Given the description of an element on the screen output the (x, y) to click on. 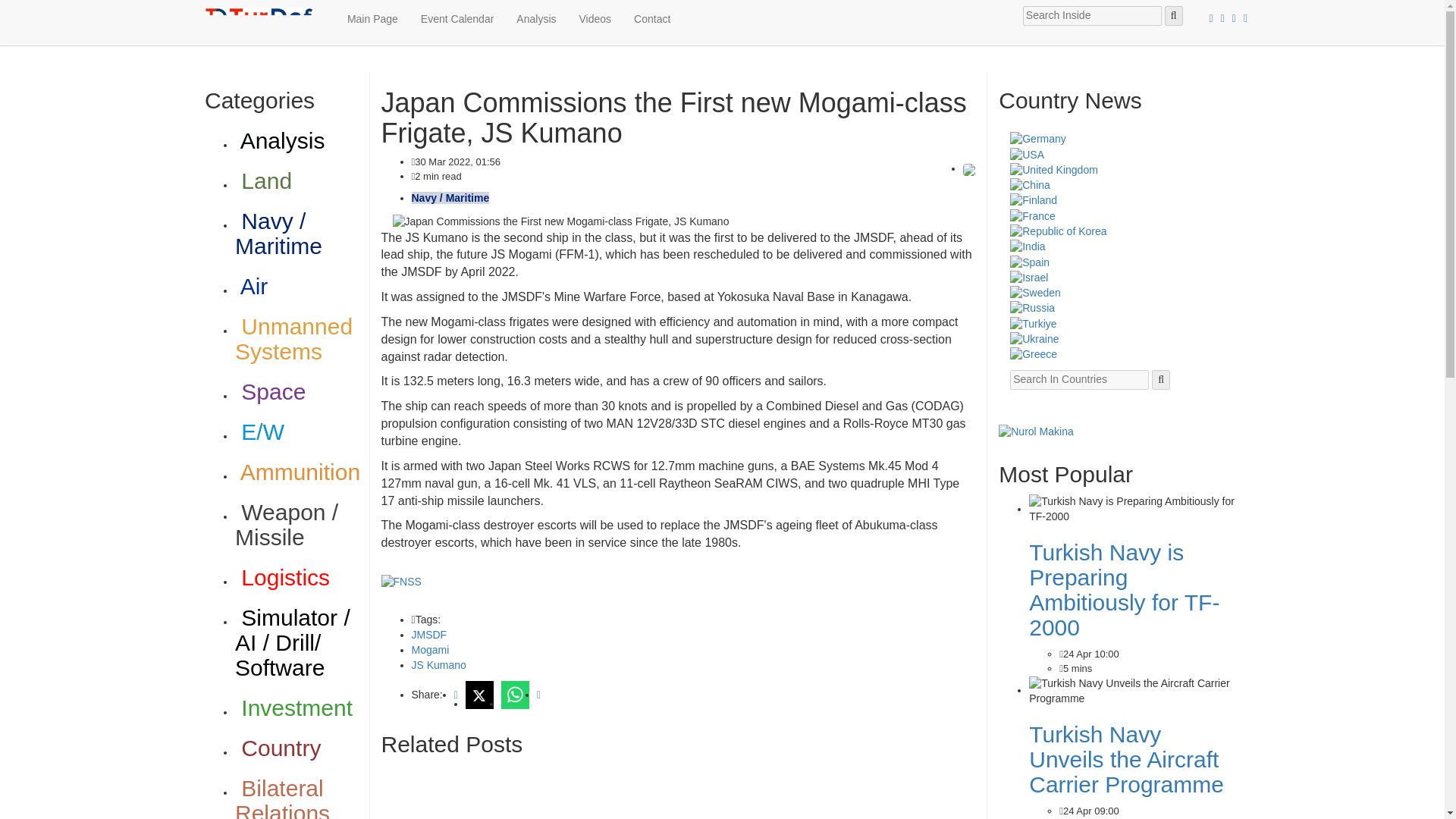
 Ammunition (296, 471)
 Country (277, 747)
 Unmanned Systems (293, 338)
 Land (263, 180)
 Investment (293, 707)
Contact (652, 18)
Videos (595, 18)
 Space (269, 391)
Main Page (372, 18)
Analysis (536, 18)
 Bilateral Relations (282, 797)
 Air (250, 285)
 Analysis (279, 140)
 Logistics (282, 577)
Event Calendar (457, 18)
